Given the description of an element on the screen output the (x, y) to click on. 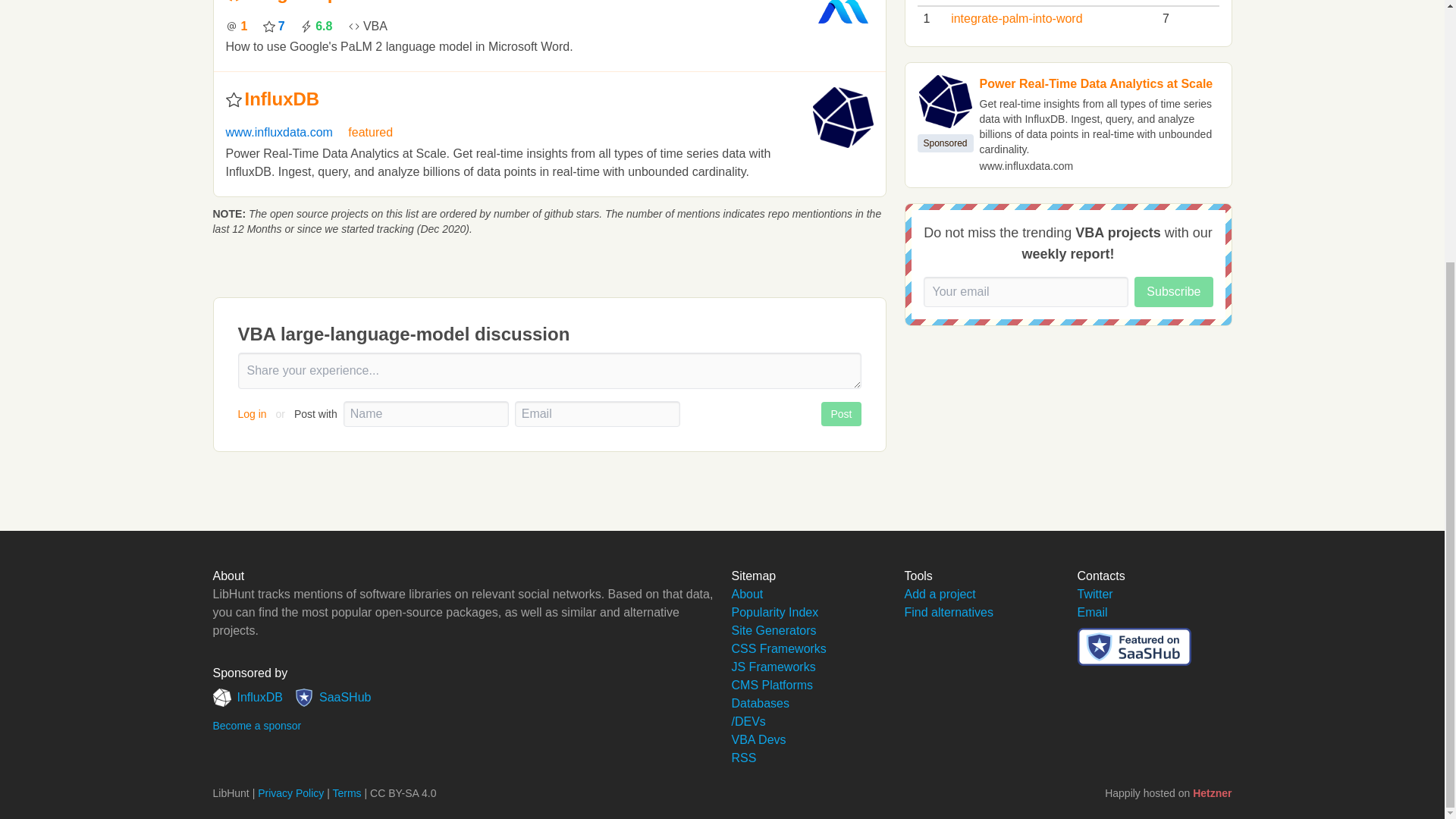
InfluxDB Logo (945, 101)
InfluxDB (247, 697)
Common Mentions (236, 26)
About (746, 594)
Github Stars (274, 26)
InfluxDB (281, 98)
Power Real-Time Data Analytics at Scale (1095, 83)
integrate-palm-into-word Alternatives (351, 2)
Popularity Index (774, 612)
Subscribe (1173, 291)
Log in (253, 413)
JS Frameworks (772, 666)
integrate-palm-into-word (351, 2)
CMS Platforms (771, 684)
Commits Activity (315, 26)
